Given the description of an element on the screen output the (x, y) to click on. 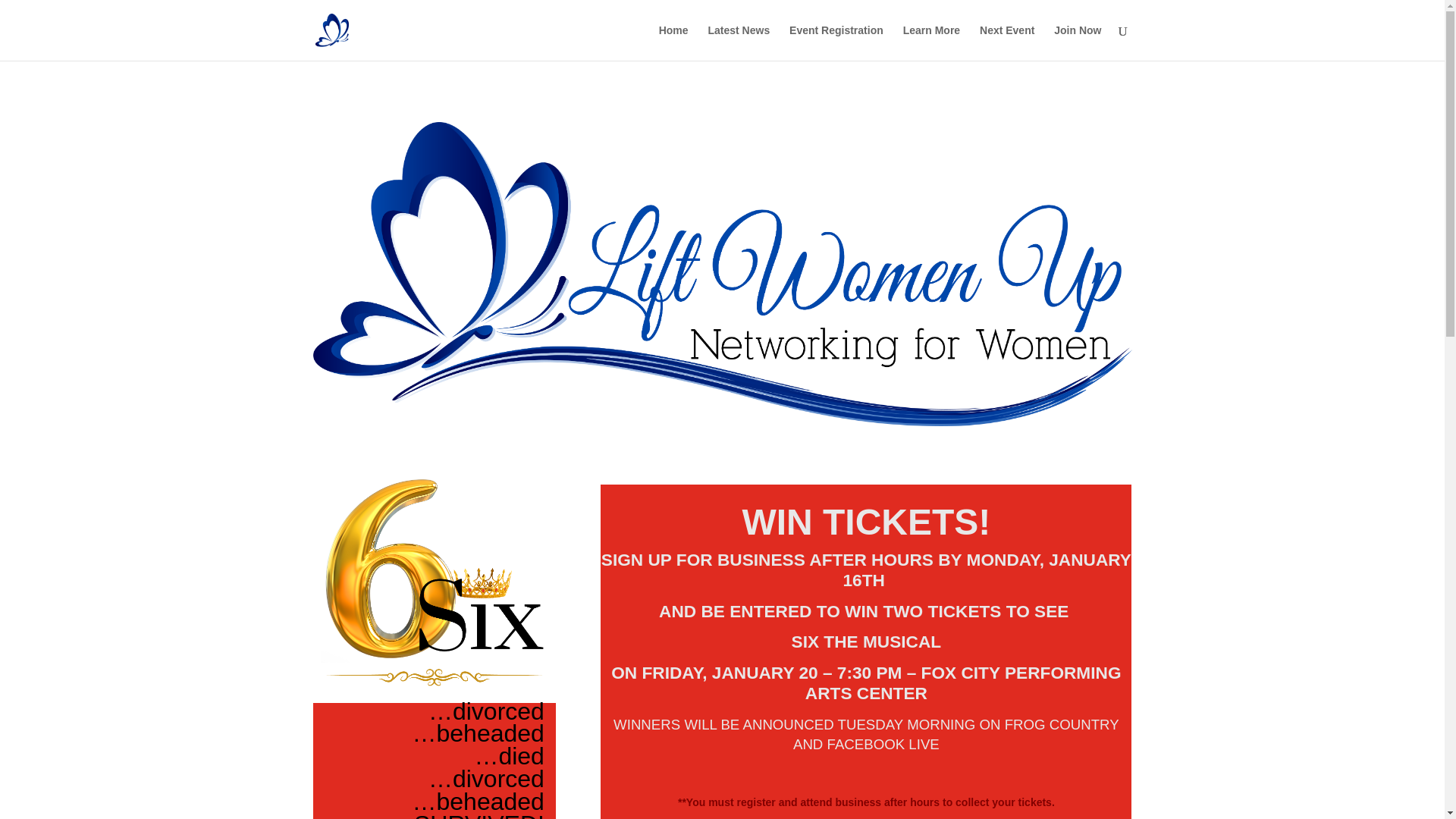
Event Registration (836, 42)
Next Event (1006, 42)
Join Now (1077, 42)
Learn More (930, 42)
Latest News (738, 42)
